Given the description of an element on the screen output the (x, y) to click on. 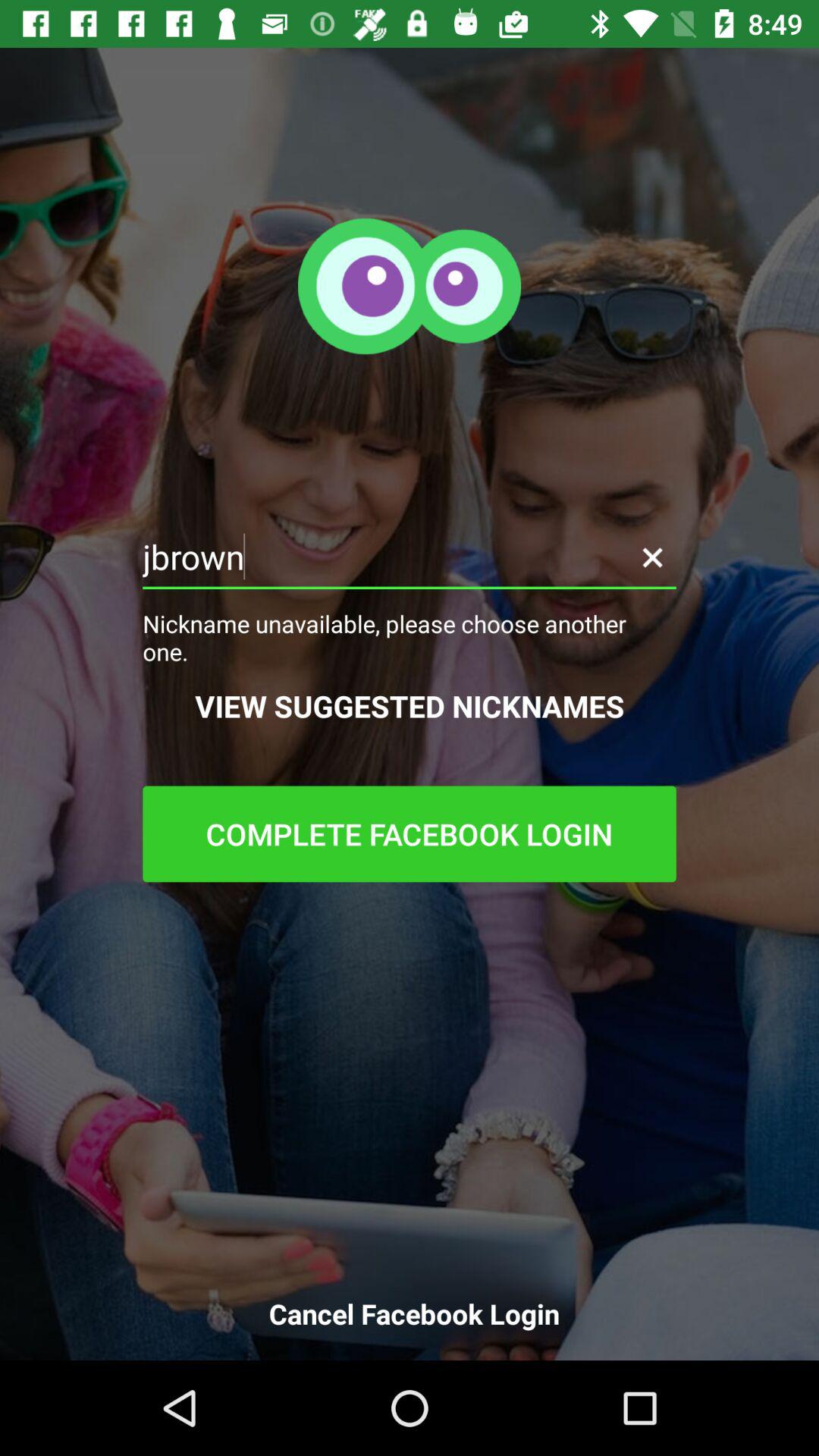
click the icon above nickname unavailable please (409, 557)
